Given the description of an element on the screen output the (x, y) to click on. 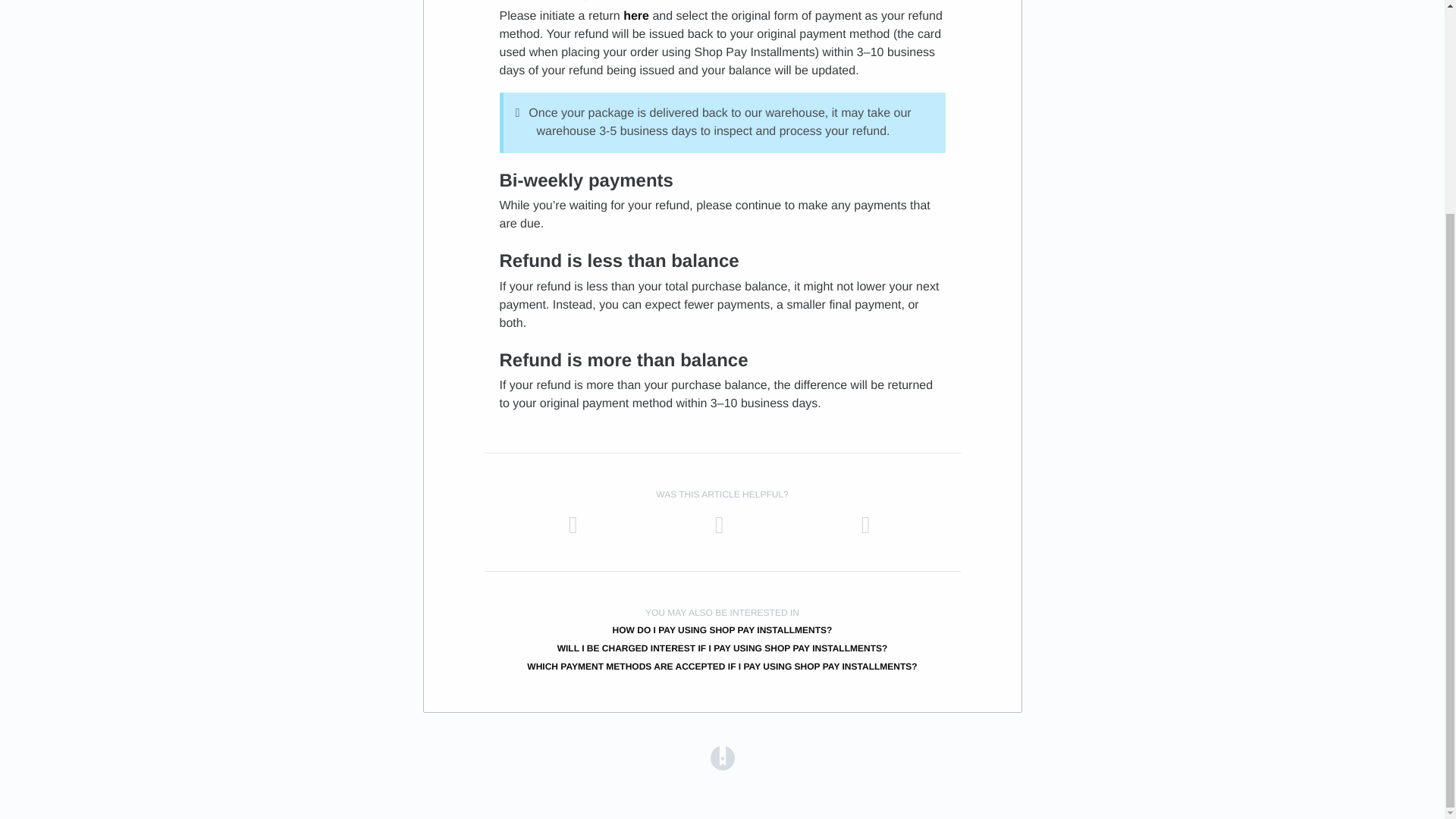
HOW DO I PAY USING SHOP PAY INSTALLMENTS? (722, 629)
Powered by HelpDocs (721, 758)
here (636, 15)
